Given the description of an element on the screen output the (x, y) to click on. 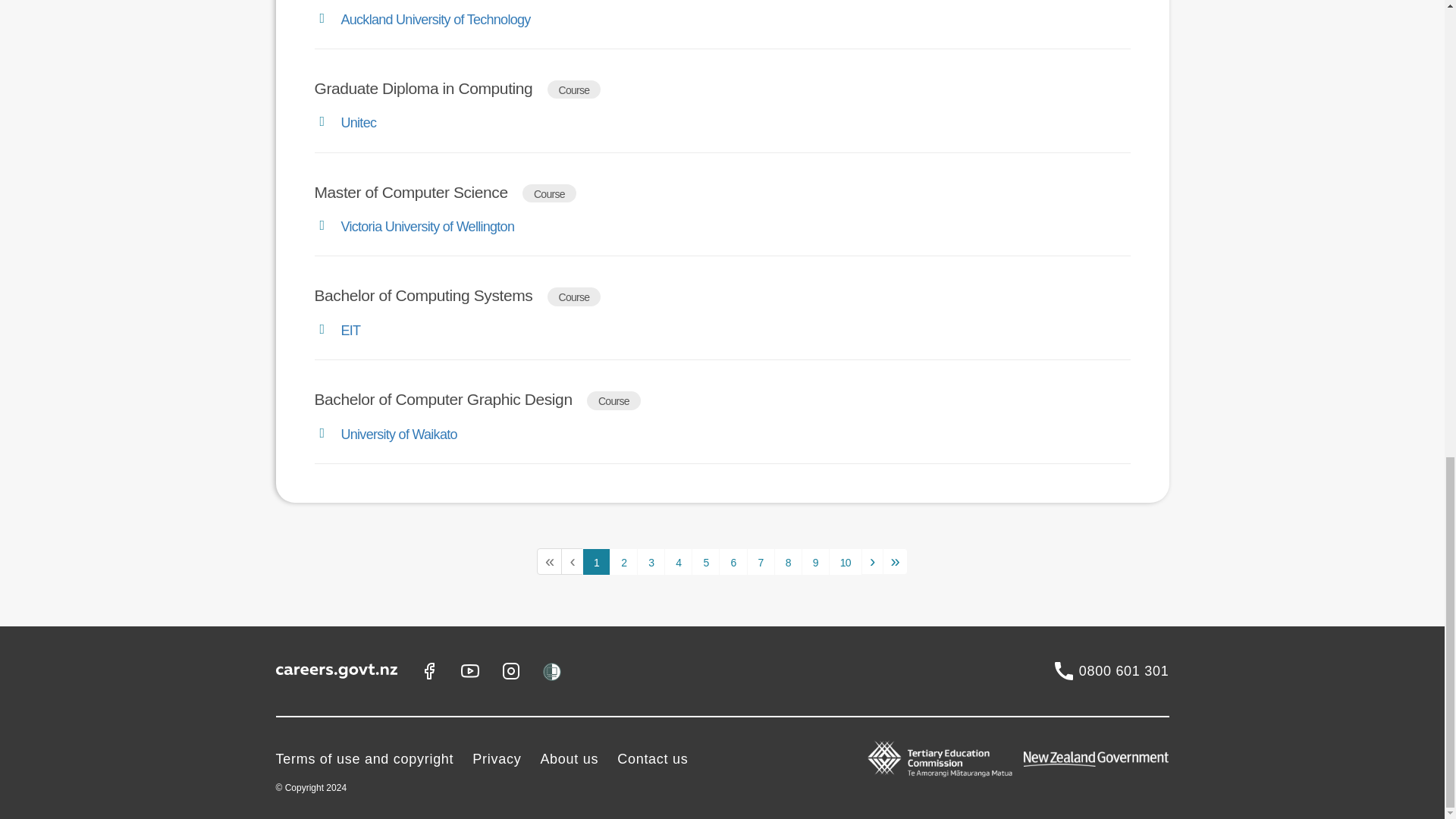
View page number 8 (788, 561)
View page number 4 (678, 561)
View page number 5 (705, 561)
View page number 1 (596, 561)
View page number 9 (815, 561)
View page number 7 (760, 561)
View page number 10 (844, 561)
View page number 2 (623, 561)
View page number 6 (732, 561)
View page number 3 (651, 561)
